Given the description of an element on the screen output the (x, y) to click on. 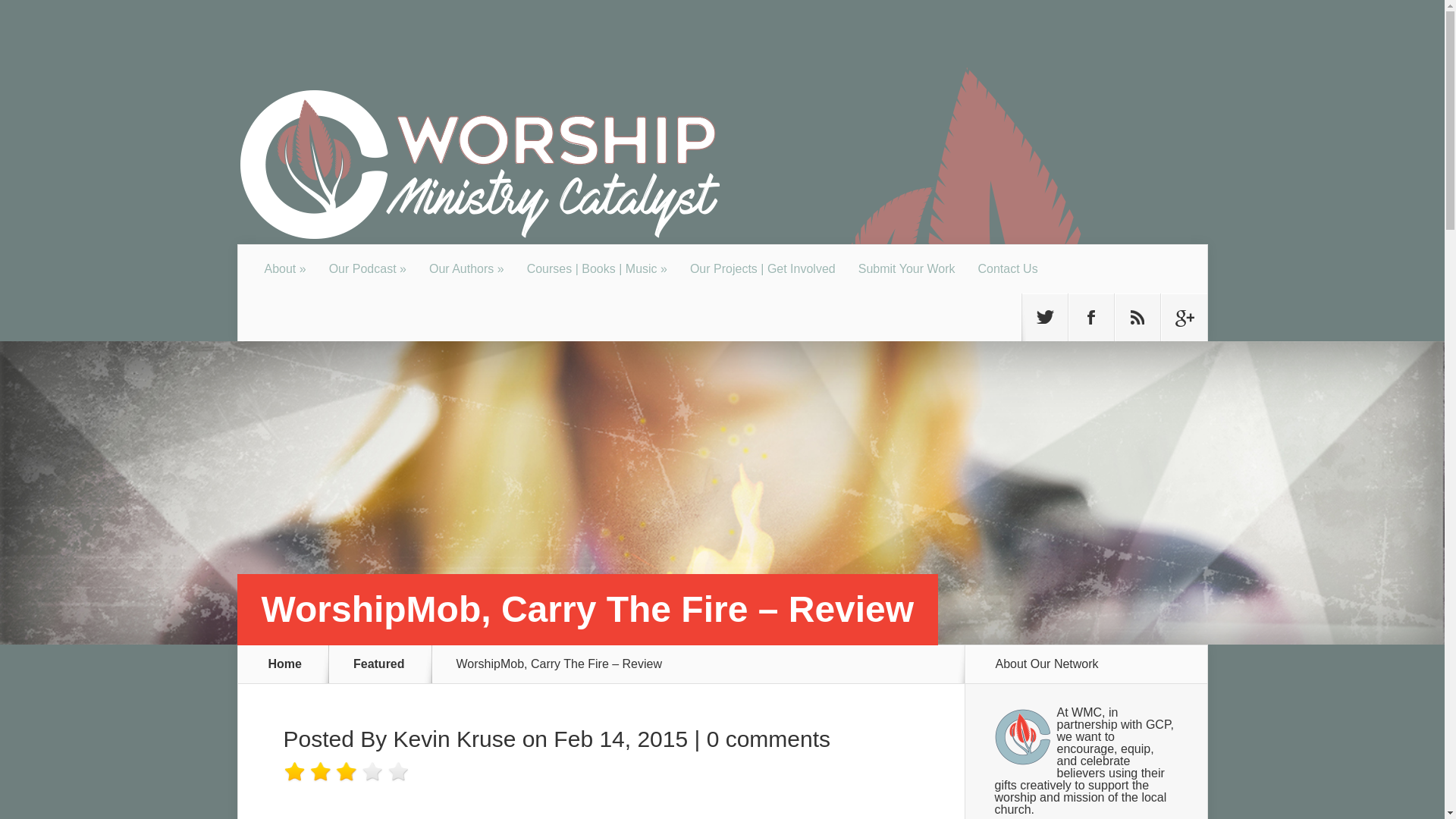
Advertisement (559, 804)
Posts by Kevin Kruse (454, 738)
